Given the description of an element on the screen output the (x, y) to click on. 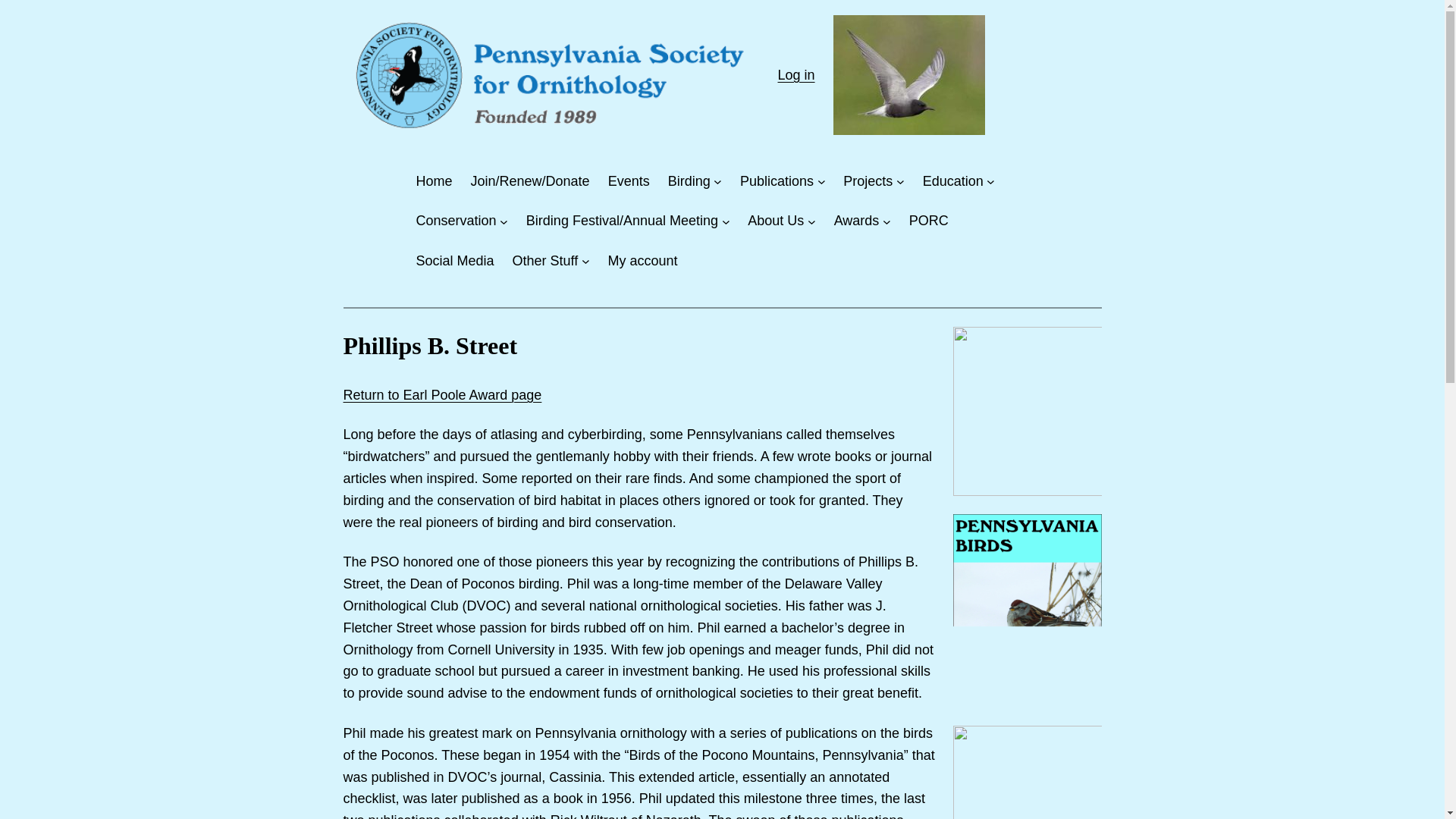
Education (953, 180)
Conservation (455, 220)
Birding (689, 180)
Projects (867, 180)
Events (628, 180)
Log in (796, 74)
Publications (776, 180)
Home (432, 180)
